Given the description of an element on the screen output the (x, y) to click on. 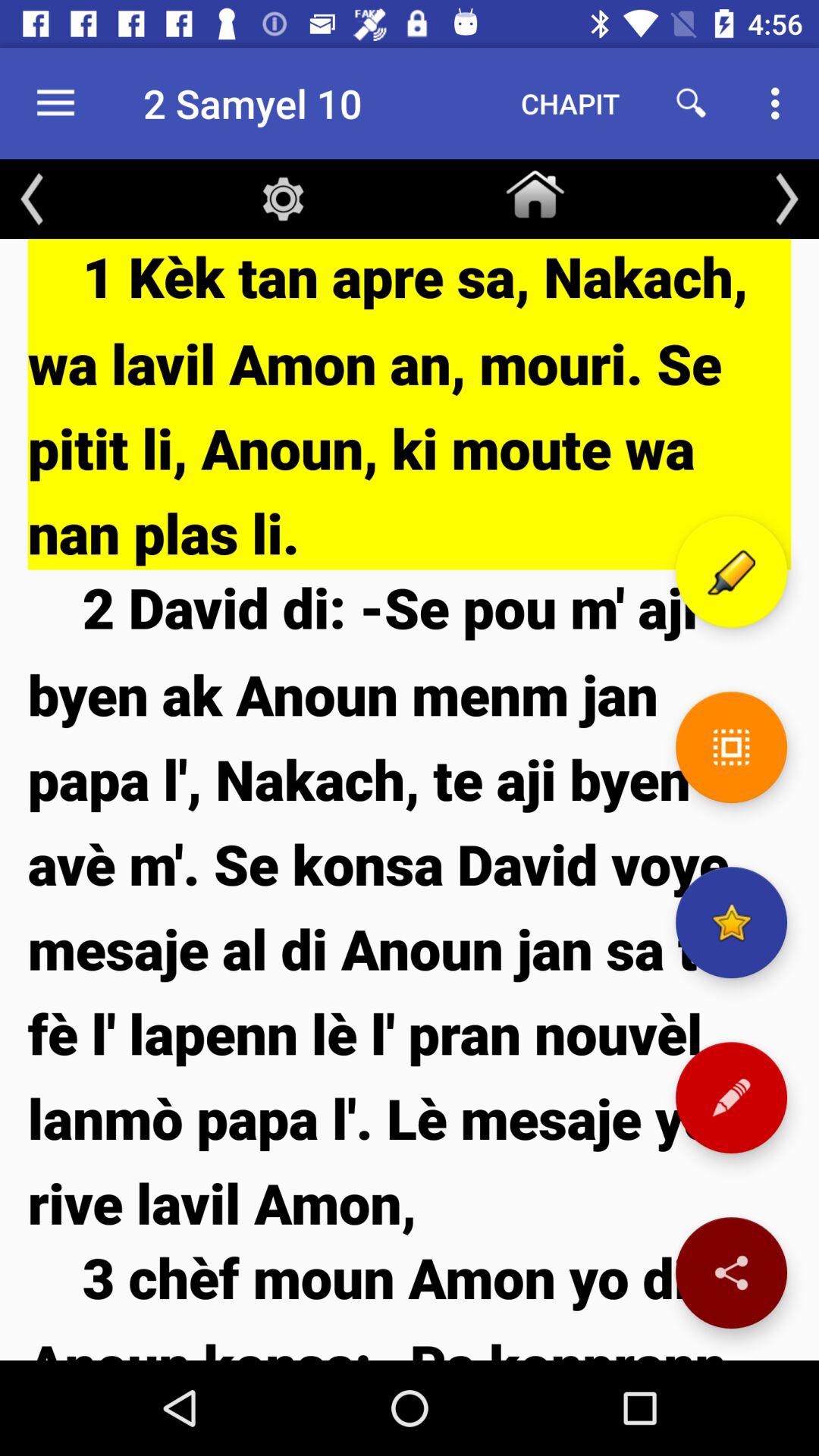
launch the icon below 2 samyel 10 icon (283, 198)
